Given the description of an element on the screen output the (x, y) to click on. 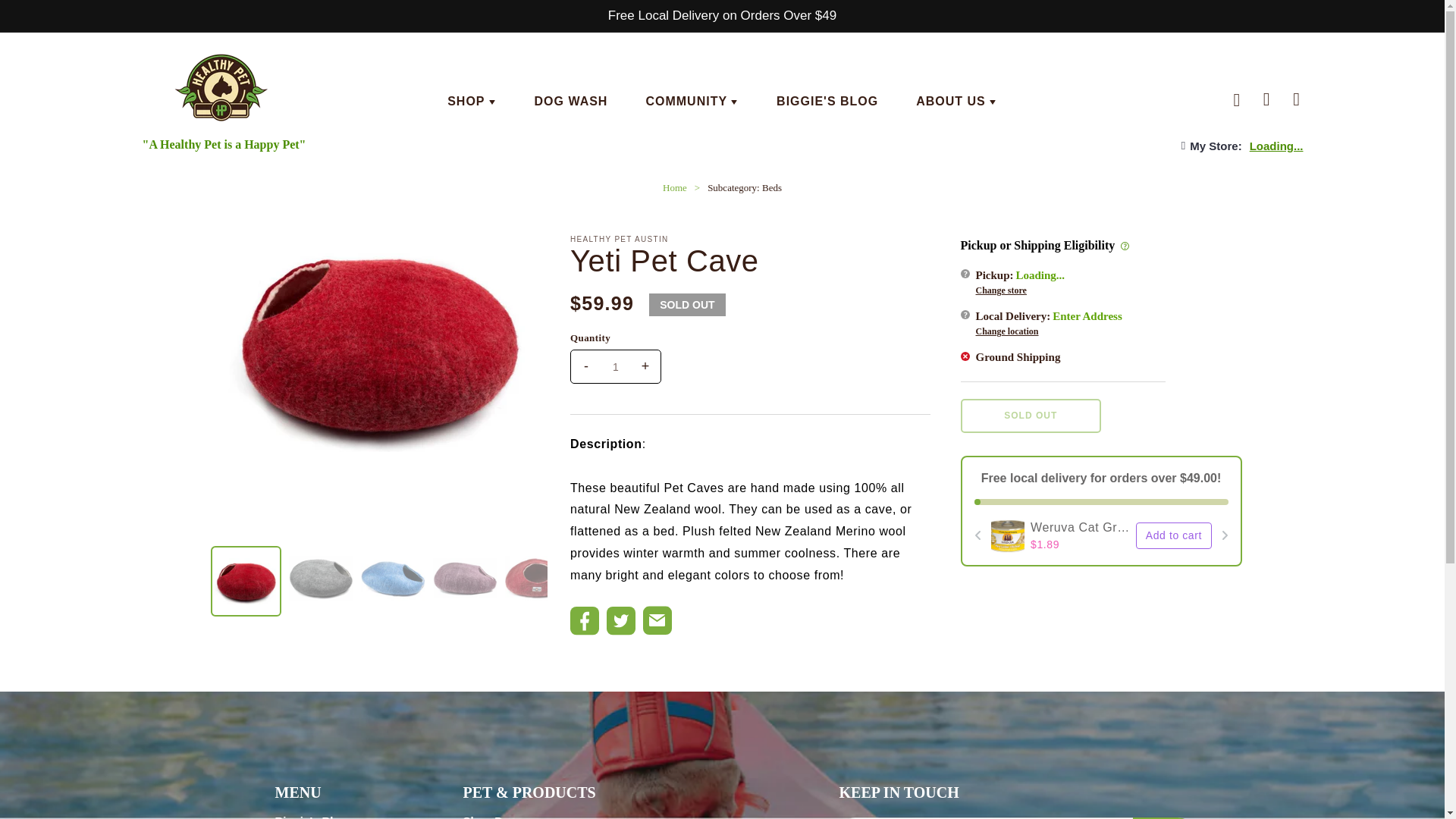
Yeti Pet Cave (393, 577)
Log in (1266, 101)
Yeti Pet Cave (537, 578)
Yeti Pet Cave (464, 577)
Skip to content (45, 16)
Loading... (1275, 145)
DOG WASH (571, 101)
Cart (1296, 101)
Yeti Pet Cave (246, 580)
BIGGIE'S BLOG (826, 101)
Yeti Pet Cave (320, 578)
Yeti Pet Cave (379, 343)
